Given the description of an element on the screen output the (x, y) to click on. 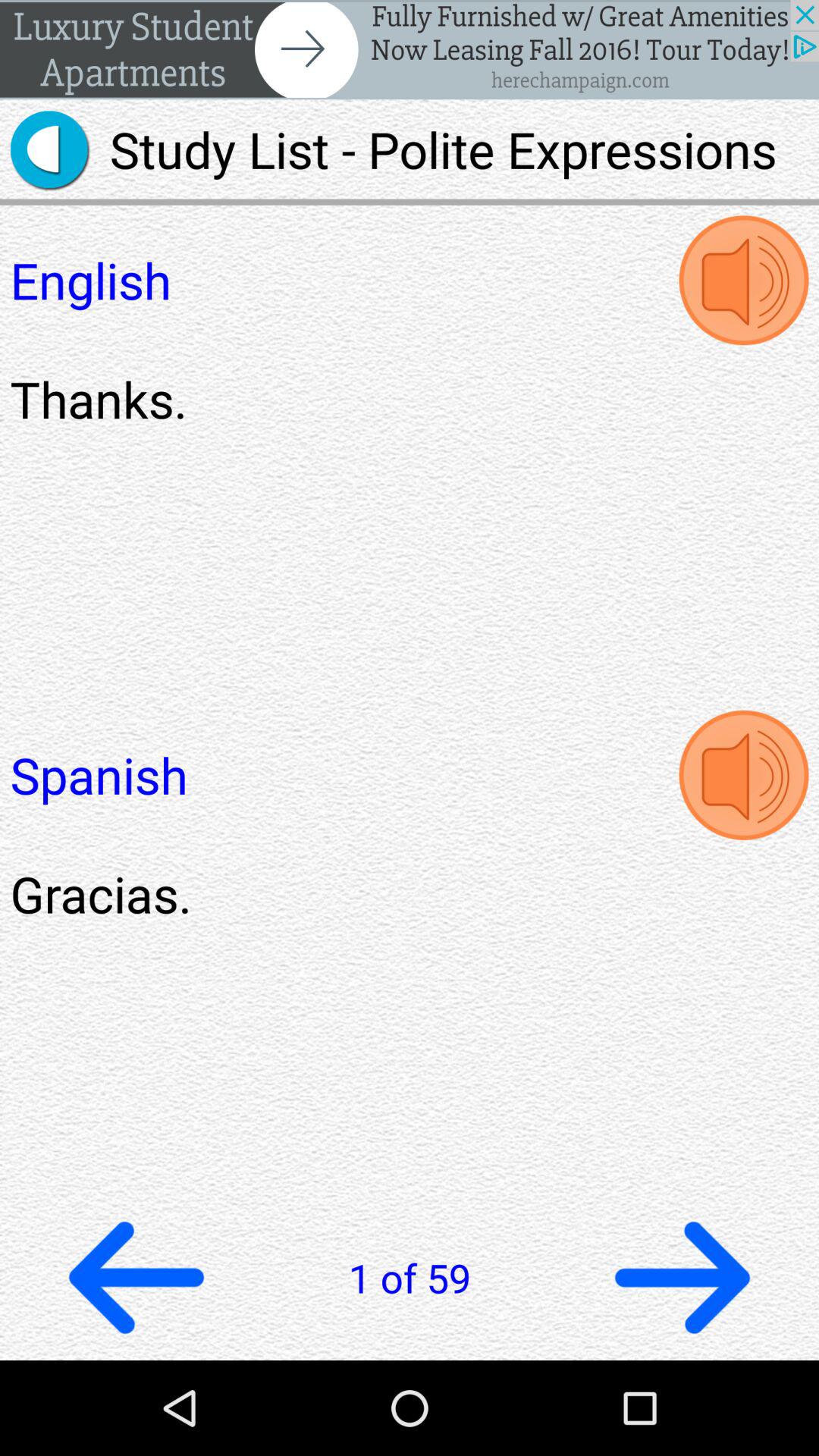
sound (743, 280)
